Given the description of an element on the screen output the (x, y) to click on. 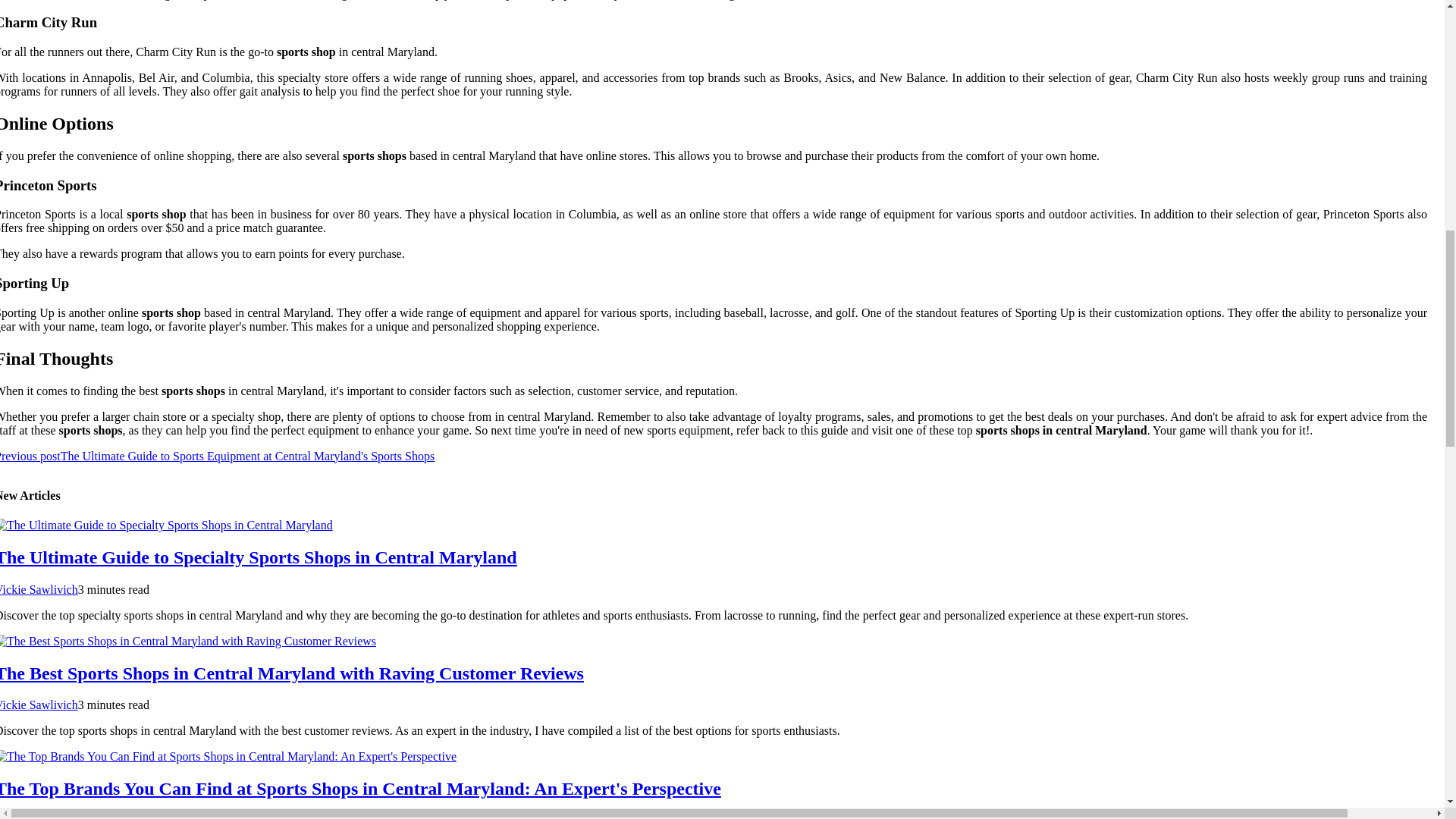
Vickie Sawlivich (39, 589)
Posts by Vickie Sawlivich (39, 704)
Posts by Vickie Sawlivich (39, 816)
Vickie Sawlivich (39, 704)
Vickie Sawlivich (39, 816)
Posts by Vickie Sawlivich (39, 589)
